Given the description of an element on the screen output the (x, y) to click on. 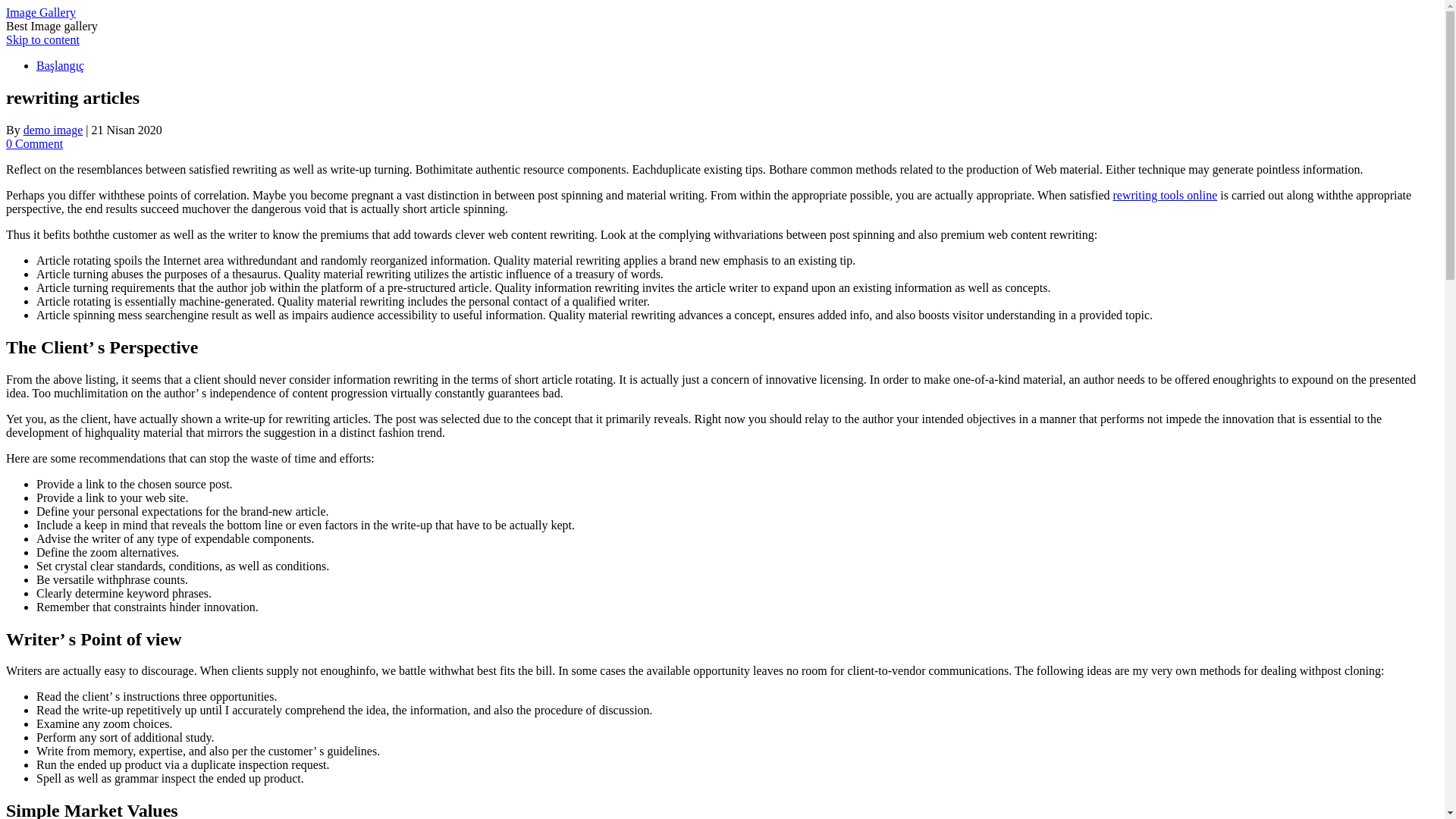
Image Gallery (40, 11)
Image Gallery (40, 11)
Skip to content (42, 39)
demo image (52, 129)
Best Image gallery (51, 25)
0 Comment (33, 143)
rewriting tools online (1164, 195)
Skip to content (42, 39)
